Given the description of an element on the screen output the (x, y) to click on. 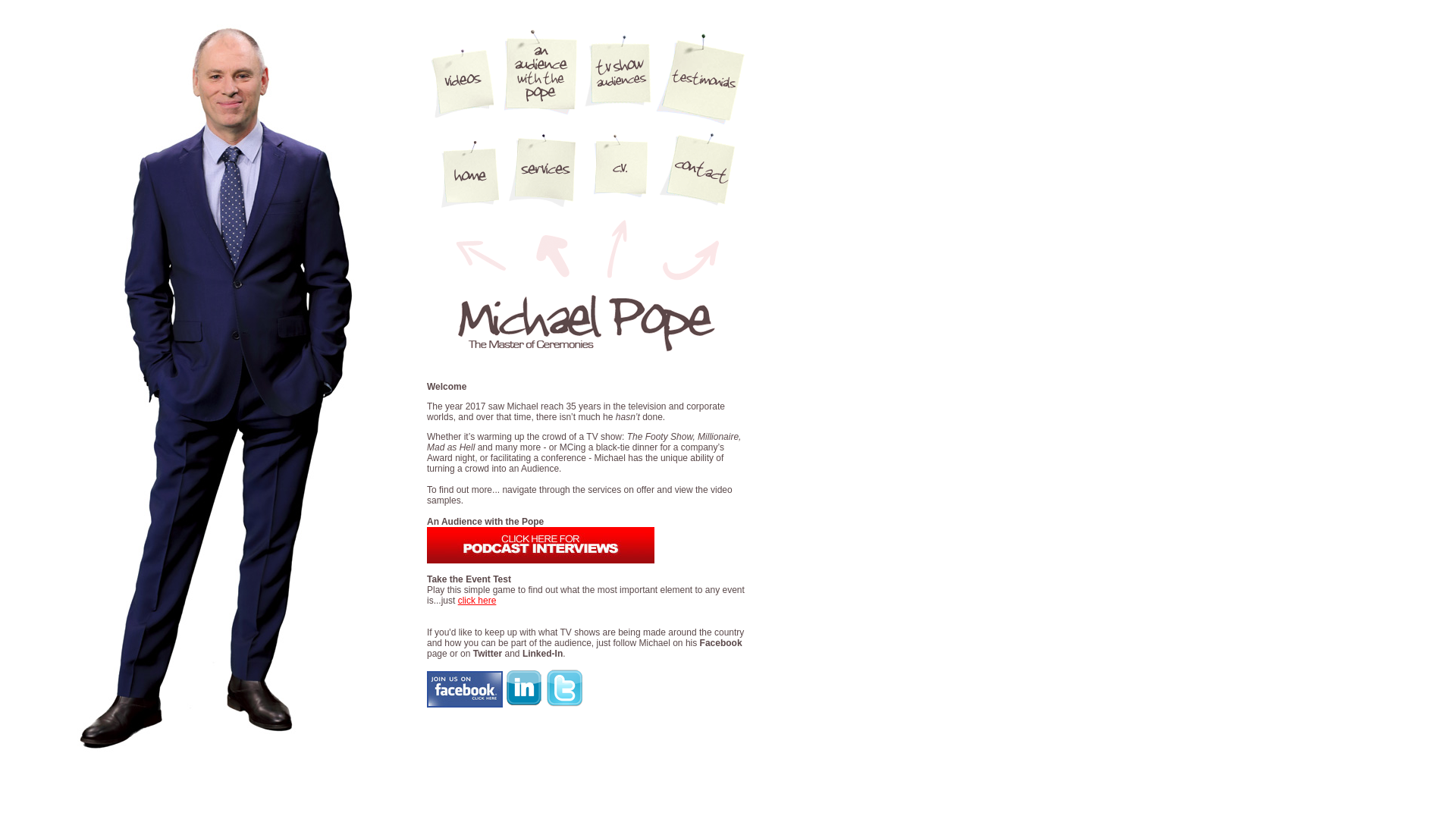
click here Element type: text (477, 600)
